Given the description of an element on the screen output the (x, y) to click on. 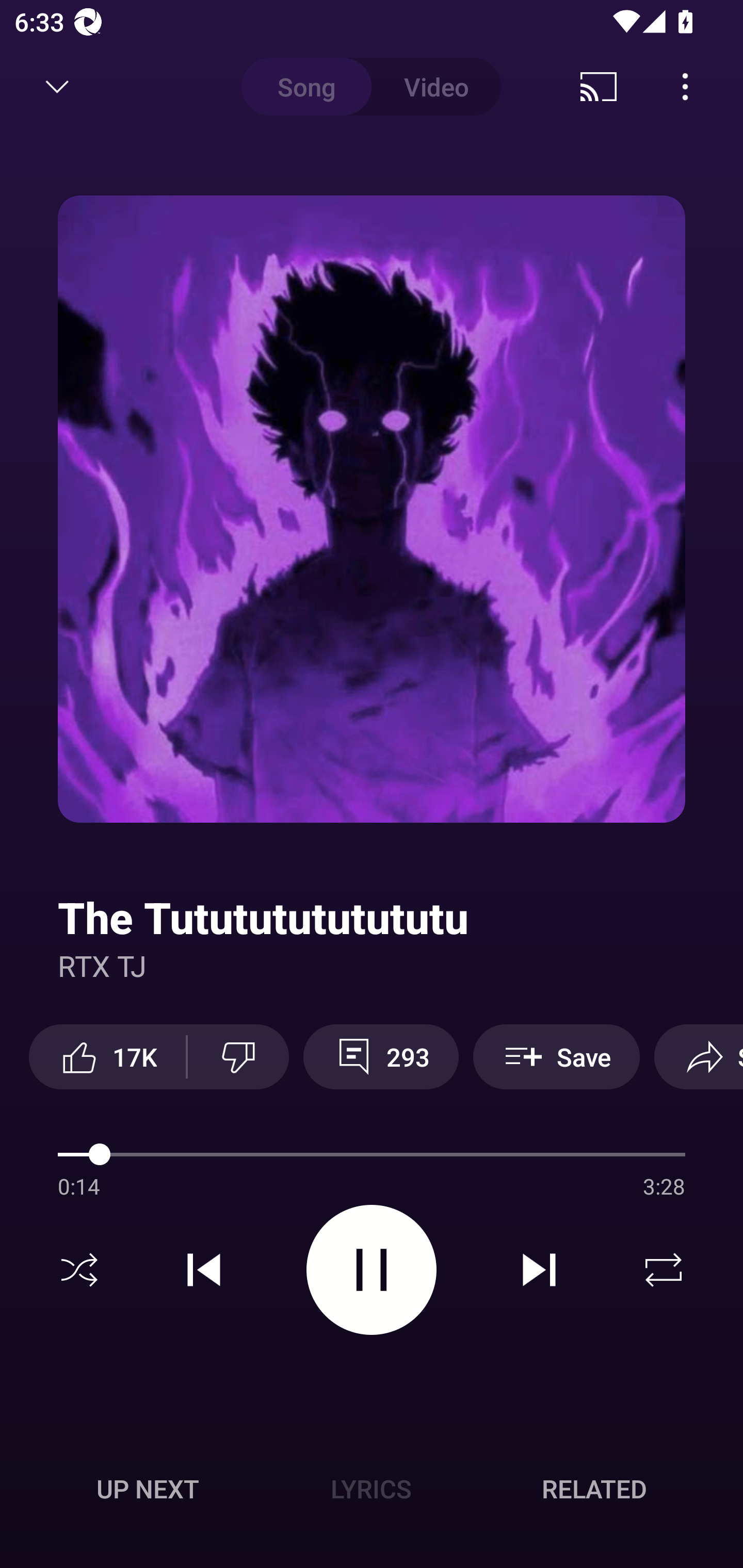
Minimize (57, 86)
Cast. Disconnected (598, 86)
Menu (684, 86)
17K like this video along with 17,363 other people (106, 1056)
Dislike (238, 1056)
293 View 293 comments (380, 1056)
Save Save to playlist (556, 1056)
Share (698, 1056)
Pause video (371, 1269)
Shuffle off (79, 1269)
Previous track (203, 1269)
Next track (538, 1269)
Repeat off (663, 1269)
Up next UP NEXT Lyrics LYRICS Related RELATED (371, 1491)
Lyrics LYRICS (370, 1488)
Related RELATED (594, 1488)
